Given the description of an element on the screen output the (x, y) to click on. 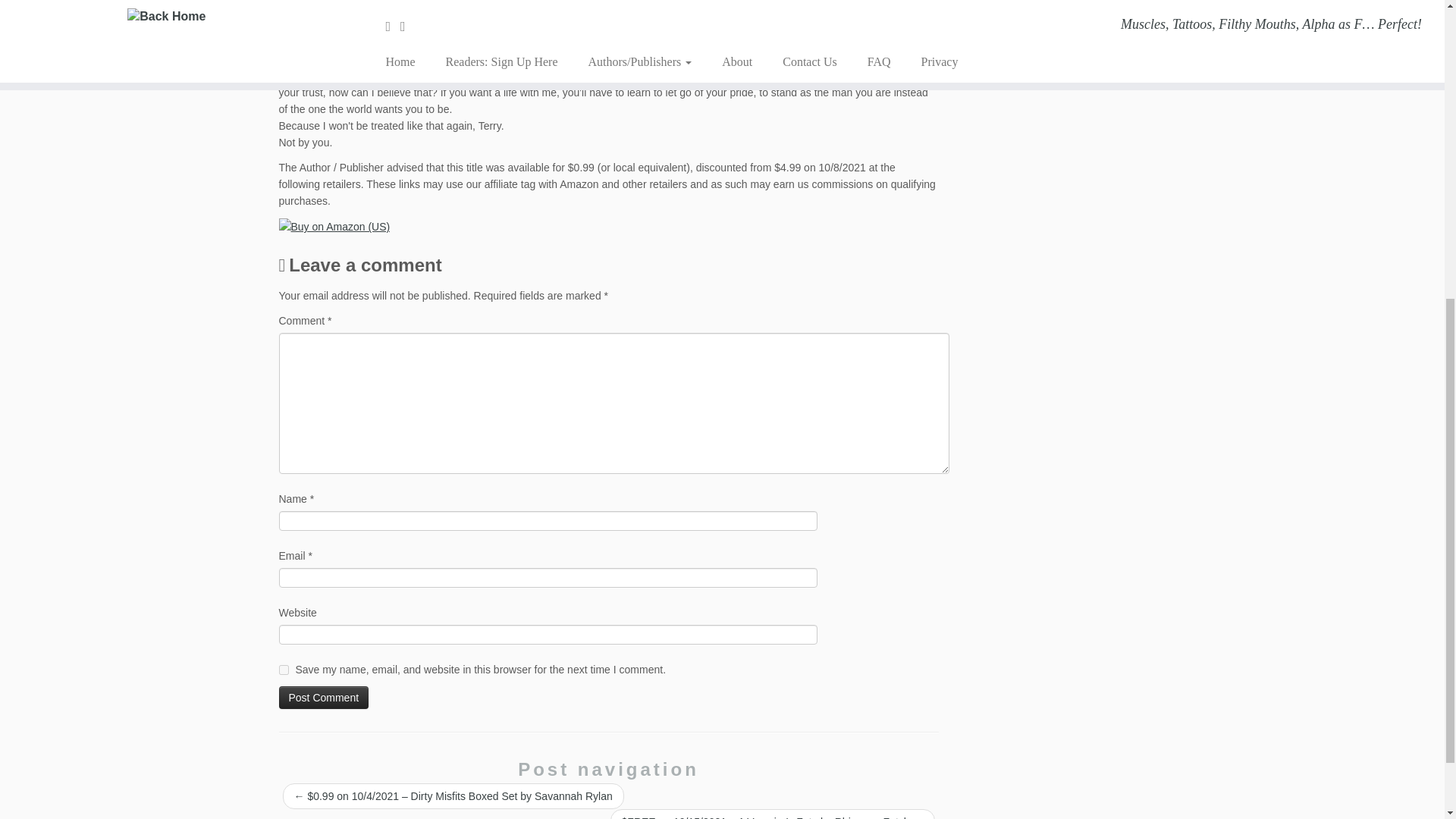
yes (283, 669)
Post Comment (324, 697)
Post Comment (324, 697)
